Given the description of an element on the screen output the (x, y) to click on. 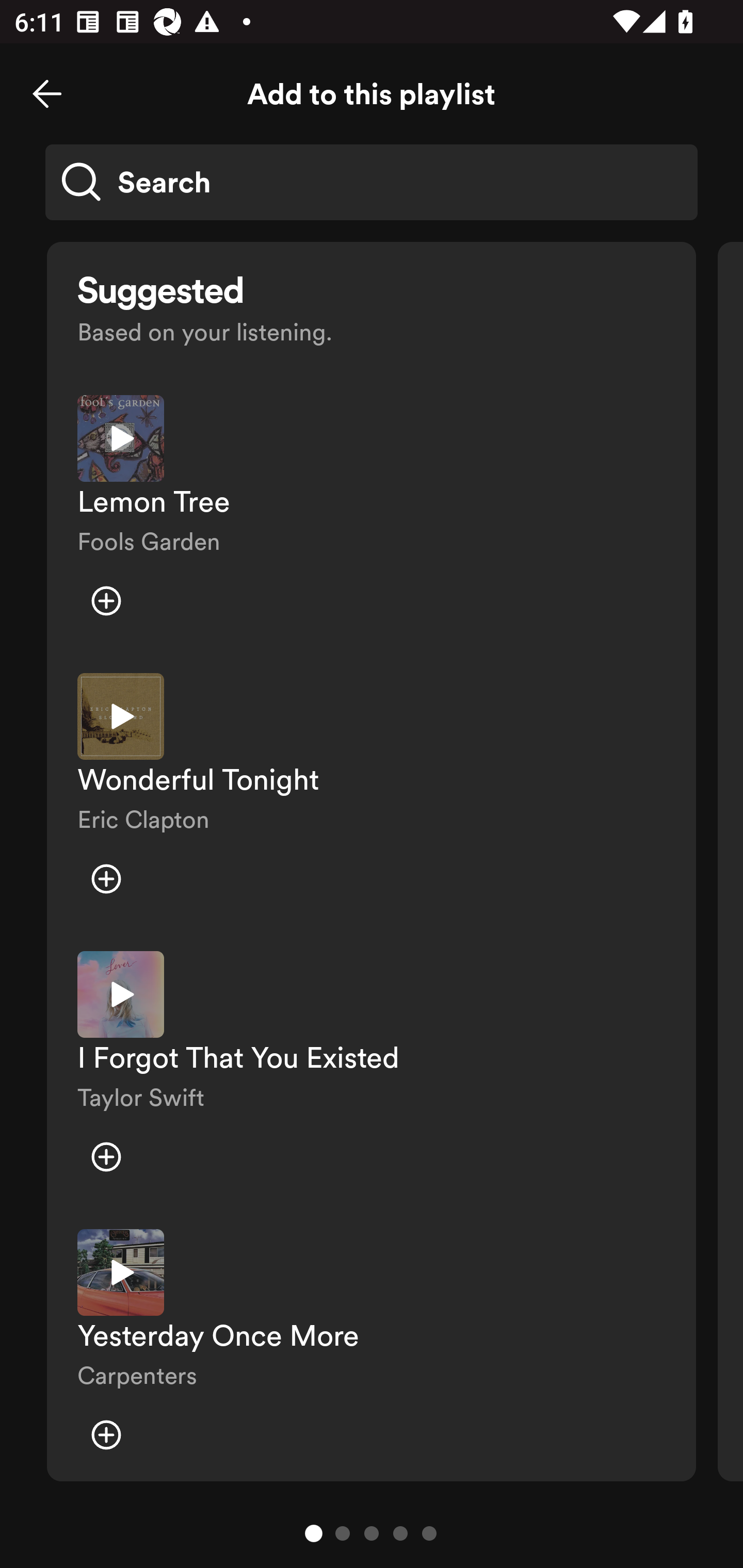
Close (46, 93)
Search (371, 181)
Play preview Lemon Tree Fools Garden Add item (371, 519)
Play preview (120, 438)
Add item (106, 601)
Play preview (120, 716)
Add item (106, 878)
Play preview (120, 994)
Add item (106, 1156)
Play preview (120, 1272)
Add item (106, 1435)
